Given the description of an element on the screen output the (x, y) to click on. 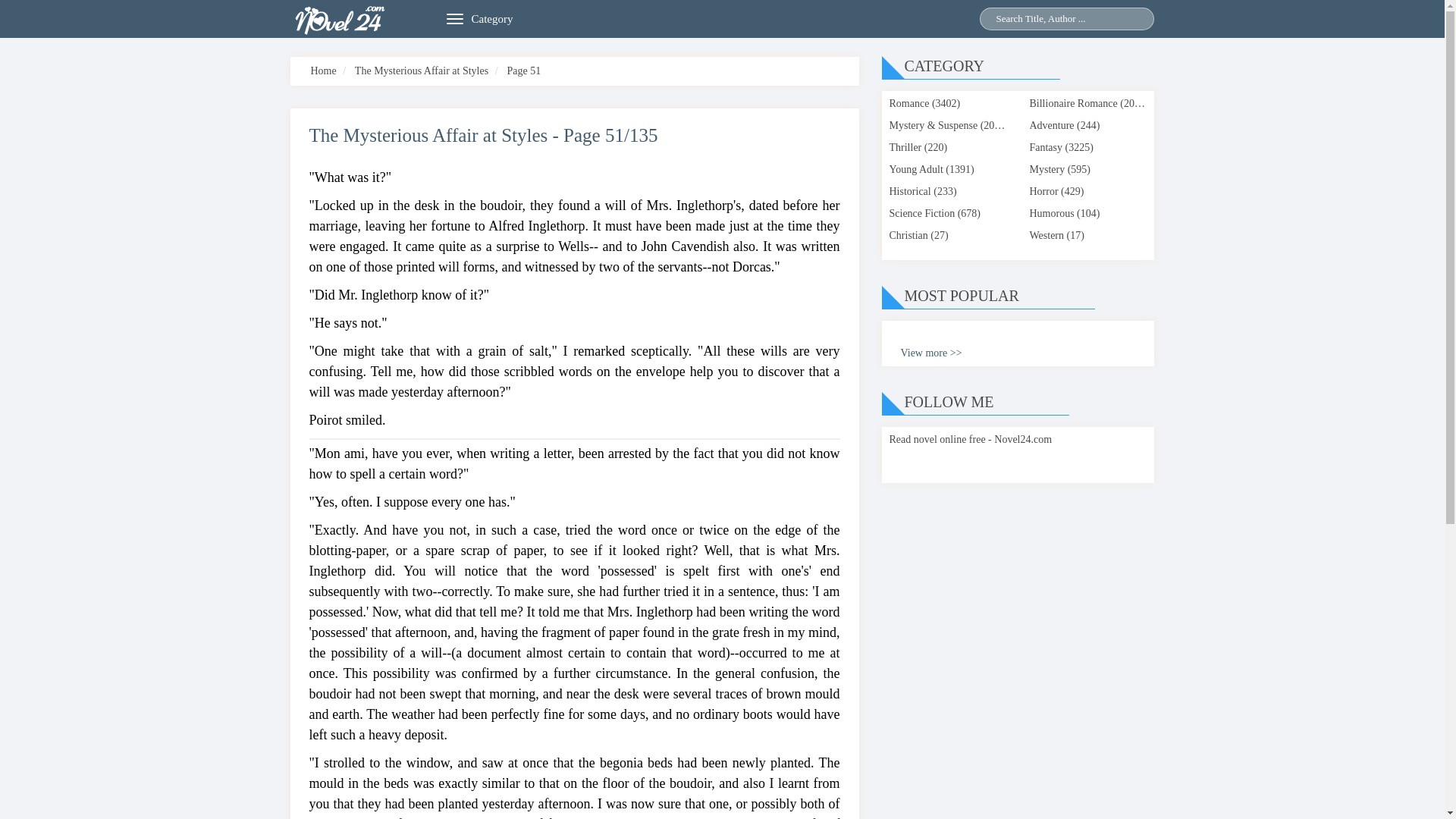
Read novel online free - Novel24.com (969, 439)
Adventure (1051, 125)
Thriller (904, 147)
Romance (908, 102)
Christian (907, 235)
Humorous (1051, 213)
Billionaire Romance (1072, 102)
Category (492, 18)
The Mysterious Affair at Styles (421, 70)
Western (1046, 235)
